Given the description of an element on the screen output the (x, y) to click on. 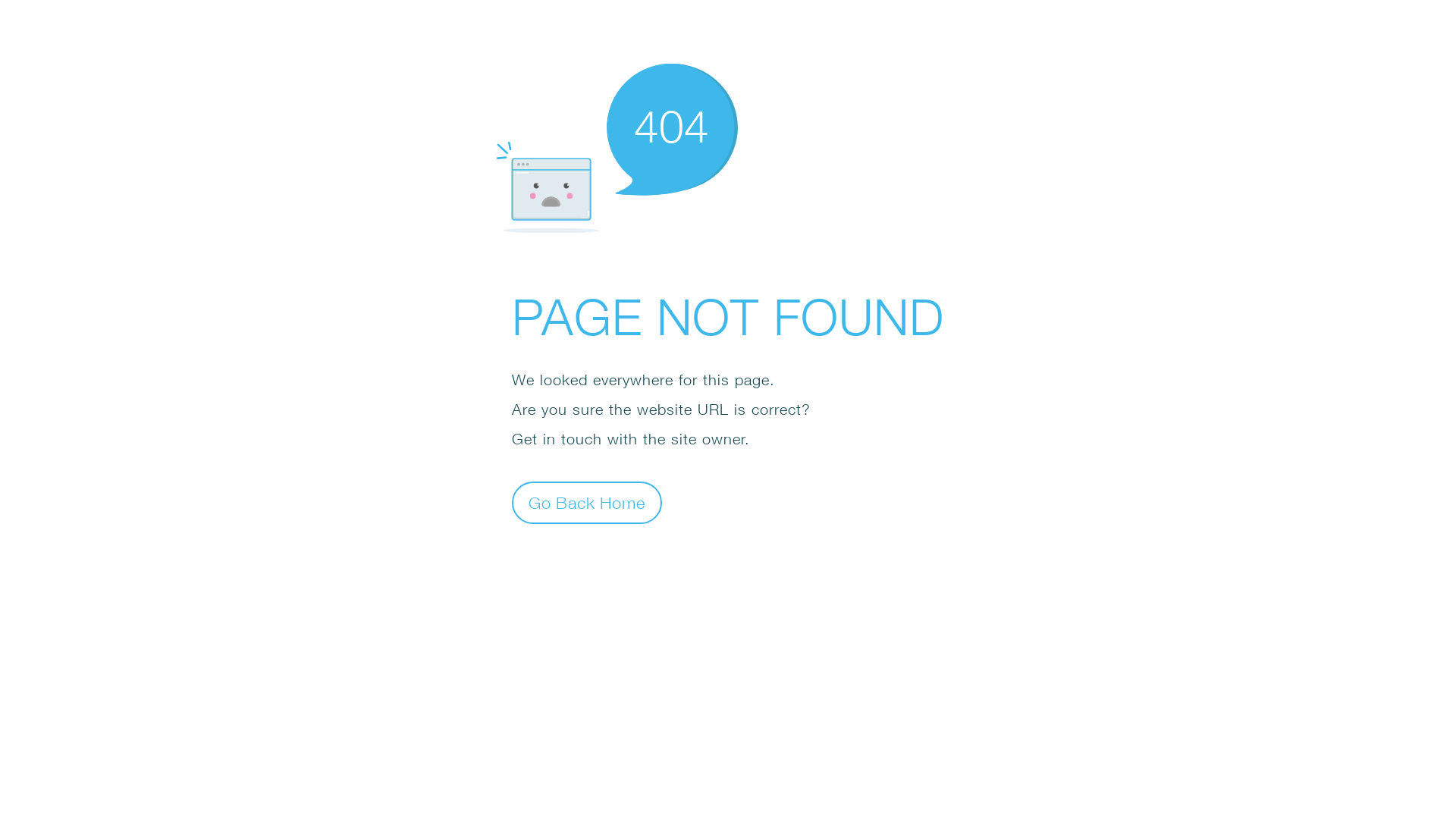
Go Back Home Element type: text (586, 502)
